Given the description of an element on the screen output the (x, y) to click on. 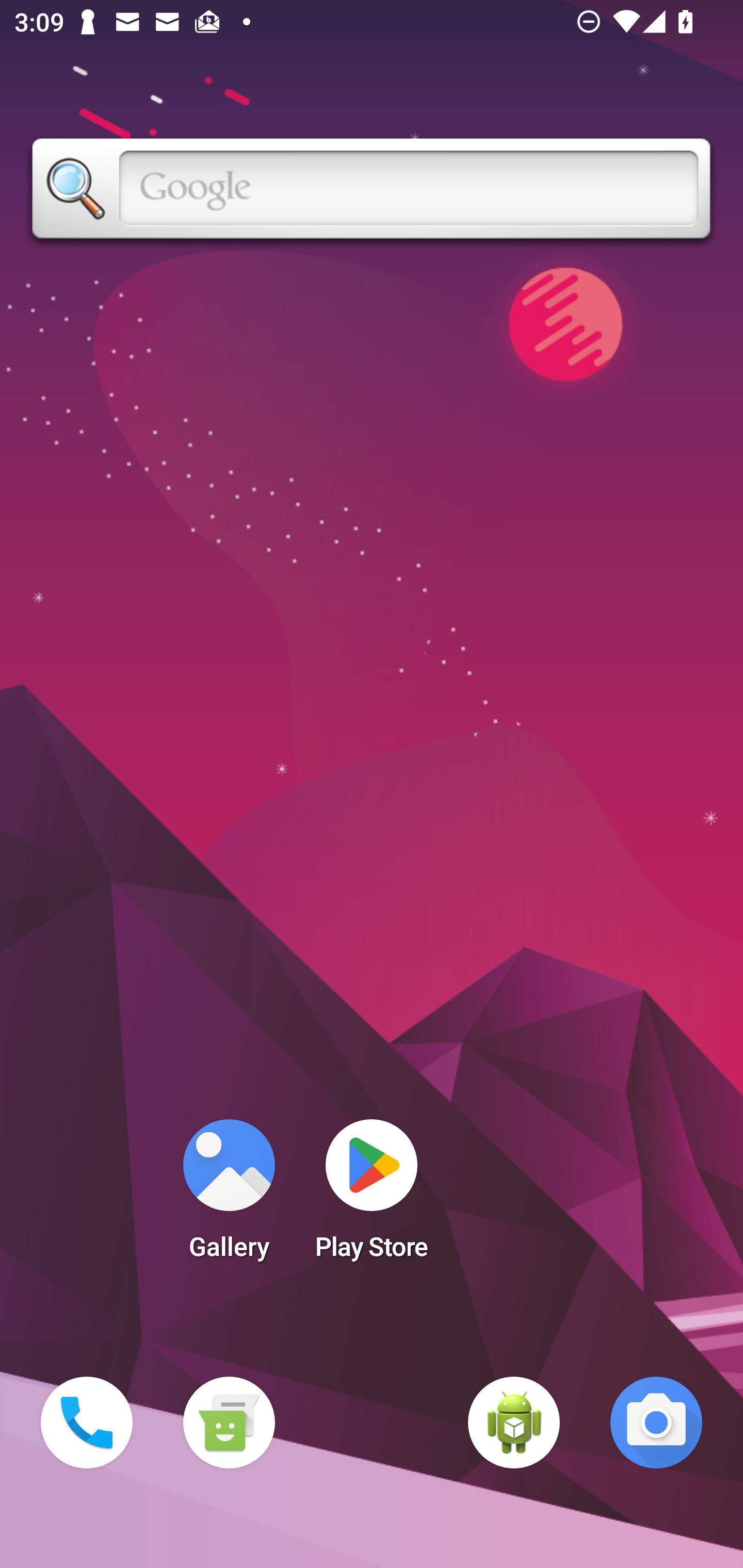
Gallery (228, 1195)
Play Store (371, 1195)
Phone (86, 1422)
Messaging (228, 1422)
WebView Browser Tester (513, 1422)
Camera (656, 1422)
